Given the description of an element on the screen output the (x, y) to click on. 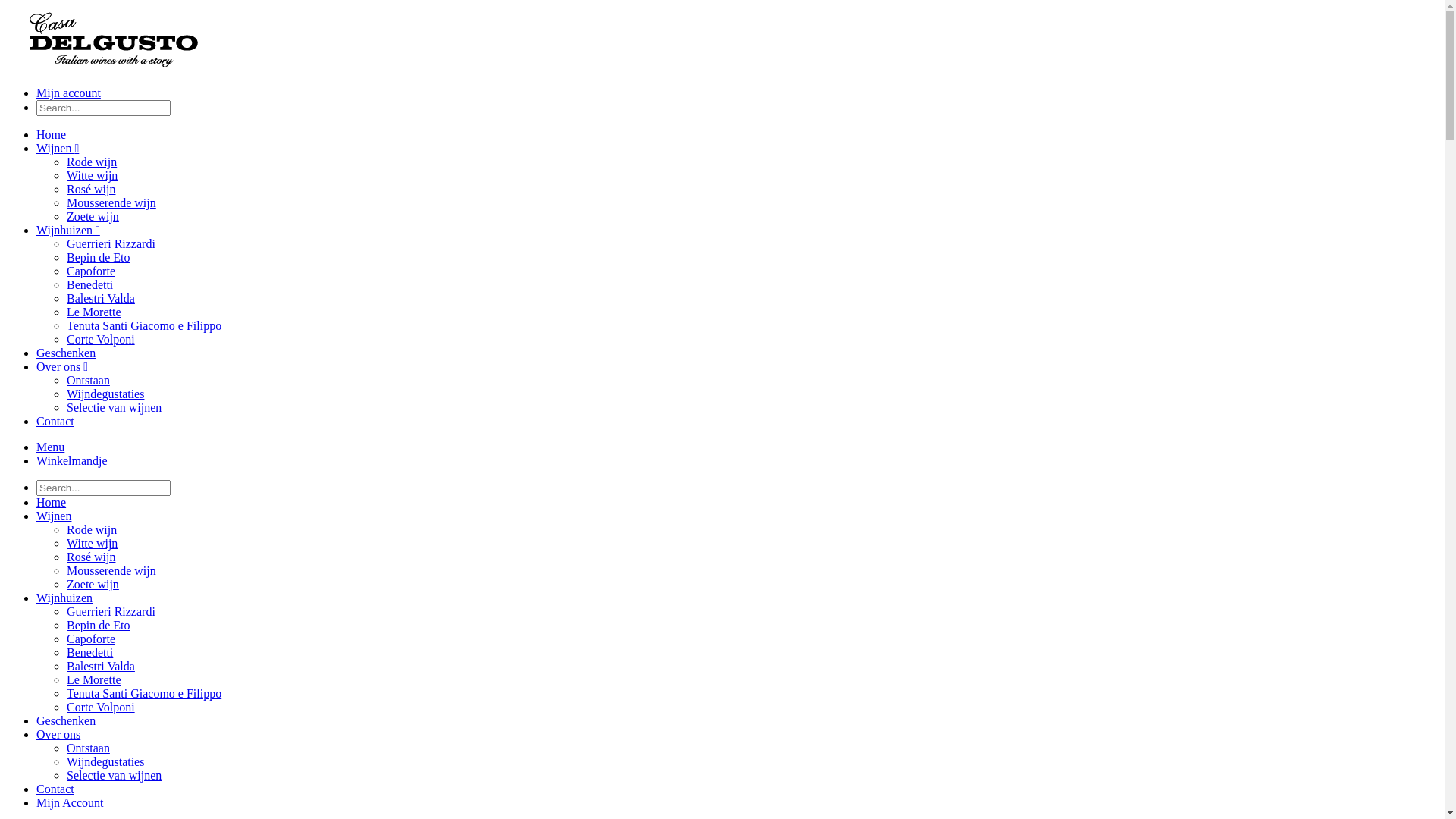
Guerrieri Rizzardi Element type: text (110, 611)
Zoete wijn Element type: text (92, 216)
Contact Element type: text (55, 788)
Balestri Valda Element type: text (100, 665)
Mijn Account Element type: text (69, 802)
Over ons Element type: text (58, 734)
Menu Element type: text (50, 446)
Ontstaan Element type: text (87, 379)
Ontstaan Element type: text (87, 747)
Mijn account Element type: text (68, 92)
Le Morette Element type: text (93, 311)
Casadelgusto Element type: hover (113, 66)
Balestri Valda Element type: text (100, 297)
Corte Volponi Element type: text (100, 706)
Benedetti Element type: text (89, 284)
Selectie van wijnen Element type: text (113, 407)
Rode wijn Element type: text (91, 161)
Tenuta Santi Giacomo e Filippo Element type: text (143, 693)
Witte wijn Element type: text (91, 542)
Capoforte Element type: text (90, 270)
Guerrieri Rizzardi Element type: text (110, 243)
Bepin de Eto Element type: text (98, 624)
Rode wijn Element type: text (91, 529)
Selectie van wijnen Element type: text (113, 774)
Wijnhuizen Element type: text (64, 597)
Bepin de Eto Element type: text (98, 257)
Geschenken Element type: text (65, 720)
Contact Element type: text (55, 420)
Le Morette Element type: text (93, 679)
Corte Volponi Element type: text (100, 338)
Witte wijn Element type: text (91, 175)
Geschenken Element type: text (65, 352)
Tenuta Santi Giacomo e Filippo Element type: text (143, 325)
Capoforte Element type: text (90, 638)
Mousserende wijn Element type: text (111, 202)
Mousserende wijn Element type: text (111, 570)
Zoete wijn Element type: text (92, 583)
Home Element type: text (50, 134)
Wijnen Element type: text (53, 515)
Winkelmandje Element type: text (71, 460)
Wijndegustaties Element type: text (105, 393)
Wijndegustaties Element type: text (105, 761)
Home Element type: text (50, 501)
Benedetti Element type: text (89, 652)
